Given the description of an element on the screen output the (x, y) to click on. 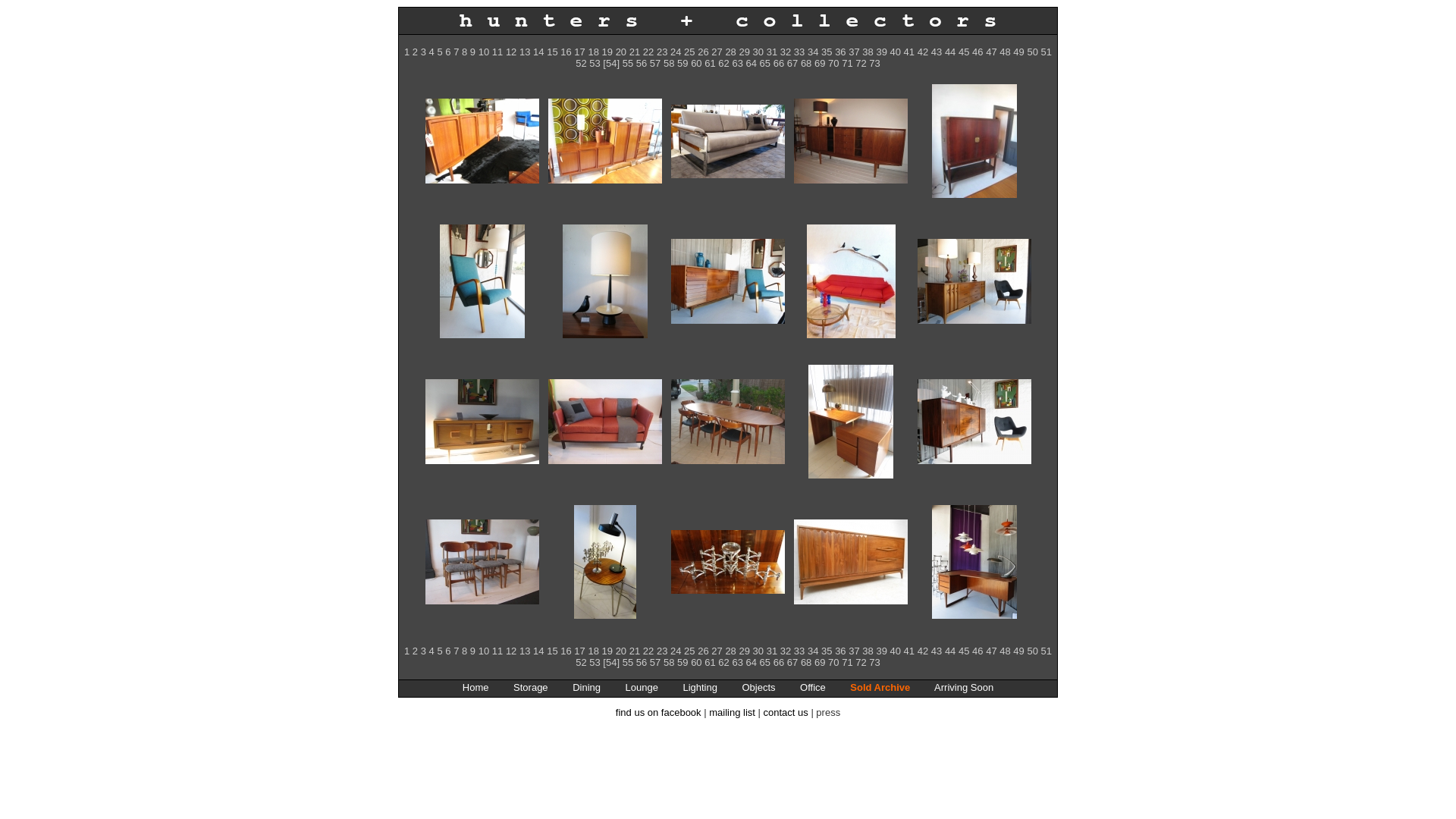
14 Element type: text (538, 650)
18 Element type: text (592, 51)
64 Element type: text (751, 662)
23 Element type: text (661, 650)
73 Element type: text (874, 63)
35 Element type: text (826, 650)
62 Element type: text (723, 63)
34 Element type: text (812, 650)
26 Element type: text (702, 650)
12 Element type: text (510, 51)
9 Element type: text (472, 650)
67 Element type: text (792, 662)
1970's chrome framed sofa by Milo Baughman - New York 1970 Element type: hover (727, 173)
credenza with sculptura front Element type: hover (850, 600)
36 Element type: text (839, 650)
22 Element type: text (648, 650)
62 Element type: text (723, 662)
53 Element type: text (594, 63)
mailing list Element type: text (732, 712)
American Mid Century armchair with laminated wood arms Element type: hover (481, 334)
contact us Element type: text (784, 712)
AMERICAN MID-CENTURY ORIGINAL SOFA Element type: hover (850, 281)
19 Element type: text (607, 51)
37 Element type: text (853, 650)
Danish wedge desk Element type: hover (973, 615)
13 Element type: text (524, 51)
55 Element type: text (627, 662)
15 Element type: text (551, 650)
47 Element type: text (990, 51)
19 Element type: text (607, 650)
118 Element type: hover (481, 179)
10 Element type: text (483, 650)
21 JAN 2009 SHOP 010 Element type: hover (850, 179)
56 Element type: text (641, 662)
Home Element type: text (475, 687)
46 Element type: text (977, 650)
30 Element type: text (758, 51)
13 Element type: text (524, 650)
55 Element type: text (627, 63)
33 Element type: text (798, 51)
8 Element type: text (464, 51)
3 Element type: text (423, 51)
37 Element type: text (853, 51)
41 Element type: text (908, 650)
12 Element type: text (510, 650)
Dining Element type: text (586, 687)
57 Element type: text (654, 63)
39 Element type: text (880, 51)
46 Element type: text (977, 51)
63 Element type: text (736, 63)
43 Element type: text (936, 51)
21 Element type: text (634, 51)
25 Element type: text (689, 650)
Component candleholder circa 1970 Element type: hover (605, 615)
66 Element type: text (778, 662)
21 Element type: text (634, 650)
3D1A Element type: hover (973, 194)
65 Element type: text (764, 63)
59 Element type: text (682, 662)
67 Element type: text (792, 63)
51 Element type: text (1046, 650)
61 Element type: text (709, 63)
20 Element type: text (620, 51)
24 Element type: text (675, 650)
Arriving Soon Element type: text (963, 687)
18 Element type: text (592, 650)
49 Element type: text (1018, 650)
17 Element type: text (579, 51)
27 Element type: text (716, 51)
59 Element type: text (682, 63)
7 Element type: text (455, 650)
Objects Element type: text (758, 687)
American Mid Century Sideboard with louvre drawer detail Element type: hover (727, 320)
14 Element type: text (538, 51)
29 Element type: text (743, 51)
69 Element type: text (819, 662)
31 Element type: text (771, 51)
38 Element type: text (867, 51)
58 Element type: text (668, 662)
Lighting Element type: text (699, 687)
20 Element type: text (620, 650)
circa 1950
Fully restored frame 
New upholstery Element type: hover (481, 281)
6 Element type: text (447, 51)
25 Element type: text (689, 51)
29 Element type: text (743, 650)
27 Element type: text (716, 650)
9 Element type: text (472, 51)
American_Mid_Century_Modern_Credenza Element type: hover (974, 320)
24 Element type: text (675, 51)
53 Element type: text (594, 662)
31 Element type: text (771, 650)
Sold Archive Element type: text (880, 687)
Brazilian Rosewood Tall bord Element type: hover (974, 460)
1 Element type: text (406, 650)
AMERICAN RED SOFA Element type: hover (850, 334)
35 Element type: text (826, 51)
42 Element type: text (922, 650)
48 Element type: text (1004, 51)
49 Element type: text (1018, 51)
APRIL SHOP 037 Element type: hover (727, 460)
Bauhaus inspired desk USA 1950
Mahogany
Fully restored Element type: hover (850, 421)
3 Element type: text (423, 650)
40 Element type: text (895, 51)
7 Element type: text (455, 51)
38 Element type: text (867, 650)
70 Element type: text (833, 662)
39 Element type: text (880, 650)
32 Element type: text (785, 650)
52 Element type: text (580, 662)
26 Element type: text (702, 51)
28 Element type: text (729, 51)
52 Element type: text (580, 63)
68 Element type: text (805, 63)
58 Element type: text (668, 63)
Ceramic lamp circa 1950
Origin : USA
New shade and wiring Element type: hover (604, 281)
5 Element type: text (439, 650)
17 Element type: text (579, 650)
42 Element type: text (922, 51)
44 Element type: text (949, 650)
CHAIRS and CUBA 001 Element type: hover (481, 600)
135 Element type: hover (605, 179)
56 Element type: text (641, 63)
48 Element type: text (1004, 650)
50 Element type: text (1031, 650)
28 Element type: text (729, 650)
45 Element type: text (963, 650)
65 Element type: text (764, 662)
61 Element type: text (709, 662)
APRIL SHOP 030 Element type: hover (605, 460)
Storage Element type: text (530, 687)
16 Element type: text (565, 650)
15 Element type: text (551, 51)
63 Element type: text (736, 662)
44 Element type: text (949, 51)
11 Element type: text (497, 51)
71 Element type: text (846, 63)
47 Element type: text (990, 650)
American Mid Century ceramic lamp Element type: hover (604, 334)
60 Element type: text (695, 662)
50 Element type: text (1031, 51)
4 Element type: text (431, 650)
APRIL SHOP 013 Element type: hover (481, 460)
36 Element type: text (839, 51)
45 Element type: text (963, 51)
16 Element type: text (565, 51)
8 Element type: text (464, 650)
5 Element type: text (439, 51)
find us on facebook Element type: text (658, 712)
Bauhaus inspired tiered pivot desk USA 1950 Element type: hover (850, 474)
23 Element type: text (661, 51)
43 Element type: text (936, 650)
64 Element type: text (751, 63)
70 Element type: text (833, 63)
60 Element type: text (695, 63)
73 Element type: text (874, 662)
6 Element type: text (447, 650)
34 Element type: text (812, 51)
68 Element type: text (805, 662)
72 Element type: text (860, 662)
72 Element type: text (860, 63)
71 Element type: text (846, 662)
4 Element type: text (431, 51)
Office Element type: text (812, 687)
2 Element type: text (414, 51)
Lounge Element type: text (640, 687)
32 Element type: text (785, 51)
51 Element type: text (1046, 51)
22 Element type: text (648, 51)
33 Element type: text (798, 650)
10 Element type: text (483, 51)
41 Element type: text (908, 51)
30 Element type: text (758, 650)
57 Element type: text (654, 662)
69 Element type: text (819, 63)
1 Element type: text (406, 51)
40 Element type: text (895, 650)
11 Element type: text (497, 650)
66 Element type: text (778, 63)
2 Element type: text (414, 650)
